Given the description of an element on the screen output the (x, y) to click on. 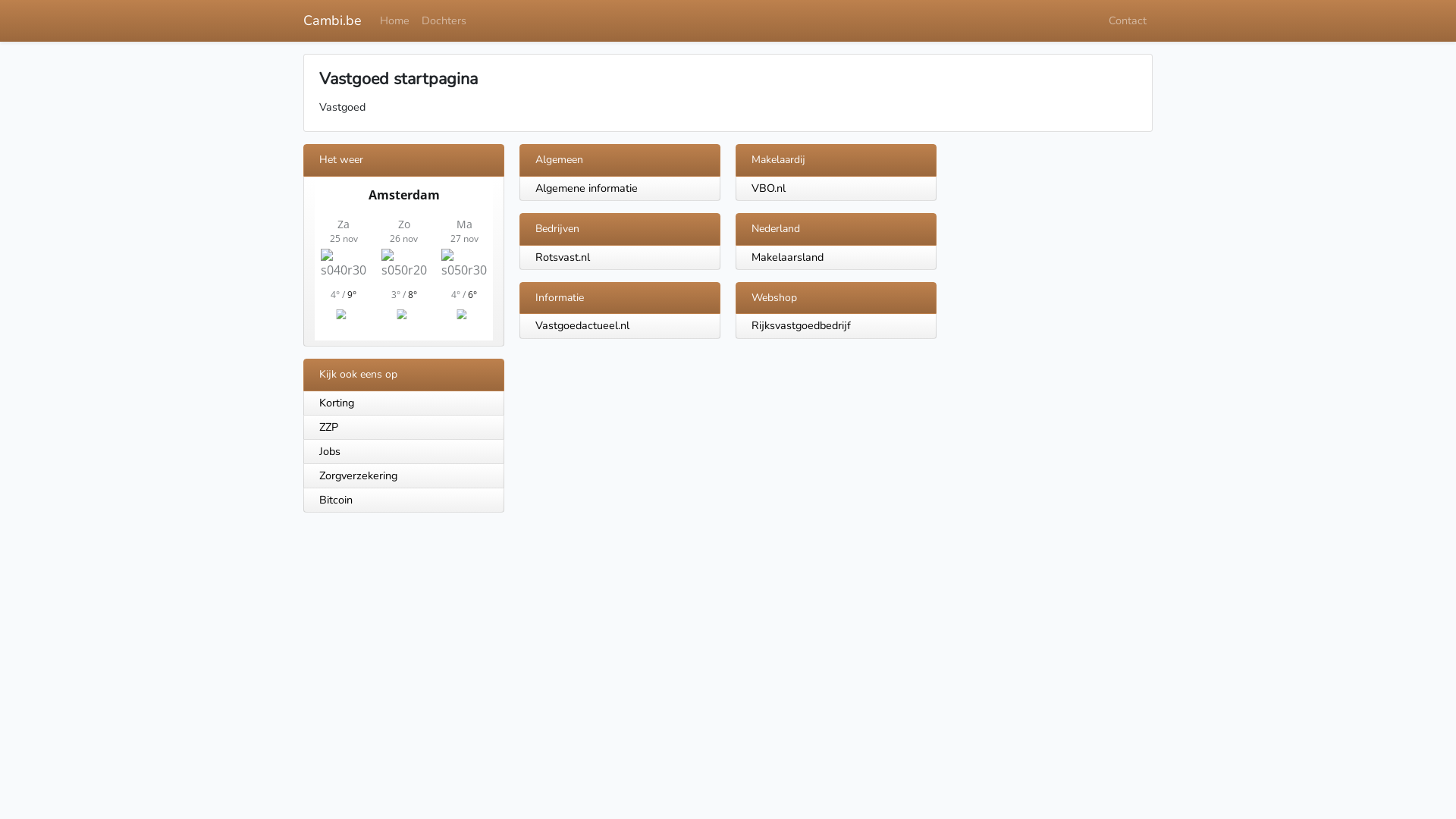
Vastgoedactueel.nl Element type: text (582, 324)
Contact Element type: text (1127, 20)
Rotsvast.nl Element type: text (562, 256)
VBO.nl Element type: text (768, 187)
Cambi.be Element type: text (332, 20)
Dochters Element type: text (443, 20)
Algemene informatie Element type: text (586, 187)
Zorgverzekering Element type: text (403, 476)
Bitcoin Element type: text (403, 500)
Korting Element type: text (403, 403)
Home Element type: text (394, 20)
Jobs Element type: text (403, 451)
Rijksvastgoedbedrijf Element type: text (800, 324)
ZZP Element type: text (403, 427)
Makelaarsland Element type: text (787, 256)
